Given the description of an element on the screen output the (x, y) to click on. 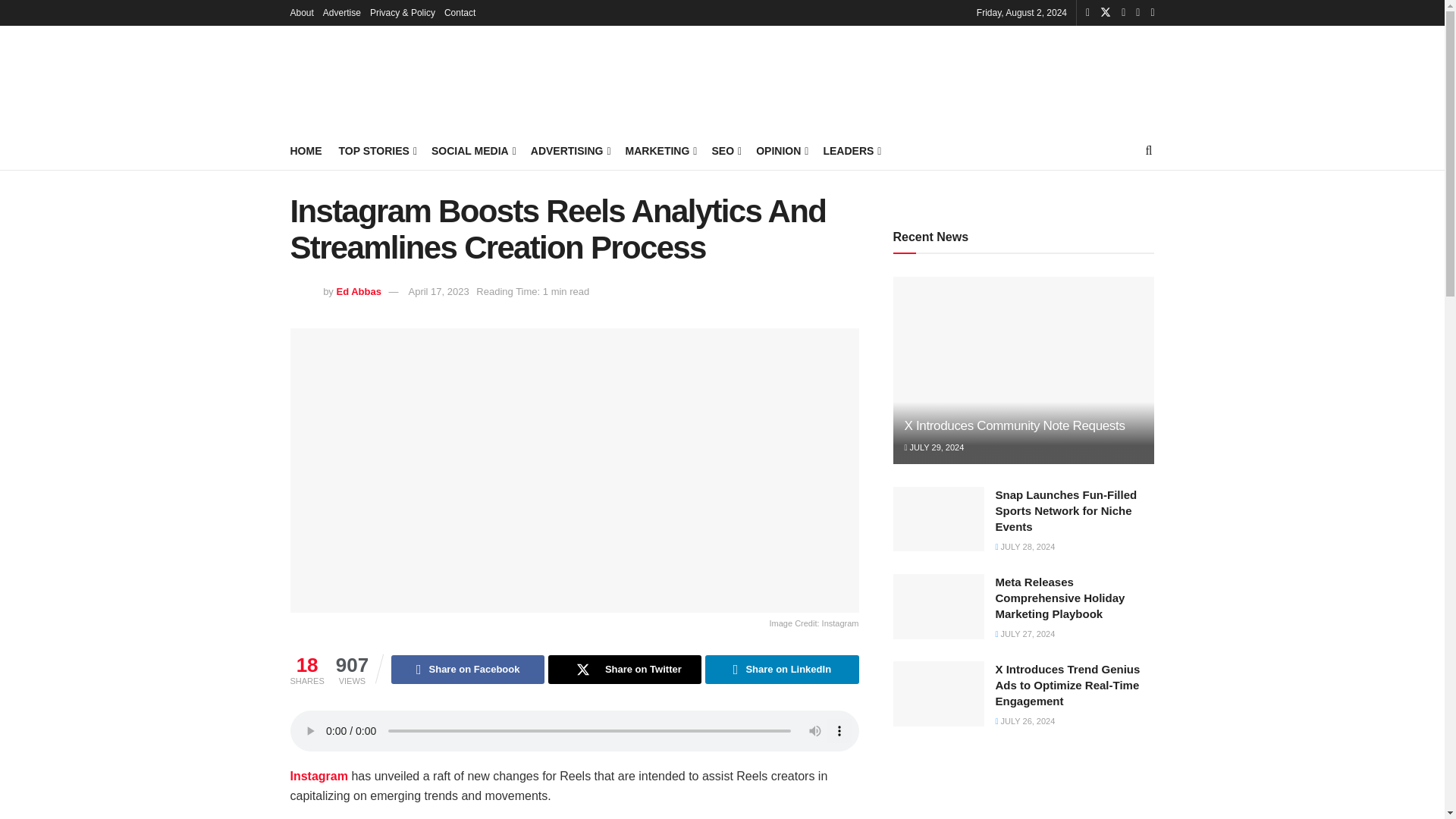
ADVERTISING (569, 150)
SOCIAL MEDIA (471, 150)
TOP STORIES (375, 150)
Advertise (342, 12)
Contact (460, 12)
HOME (305, 150)
About (301, 12)
